Given the description of an element on the screen output the (x, y) to click on. 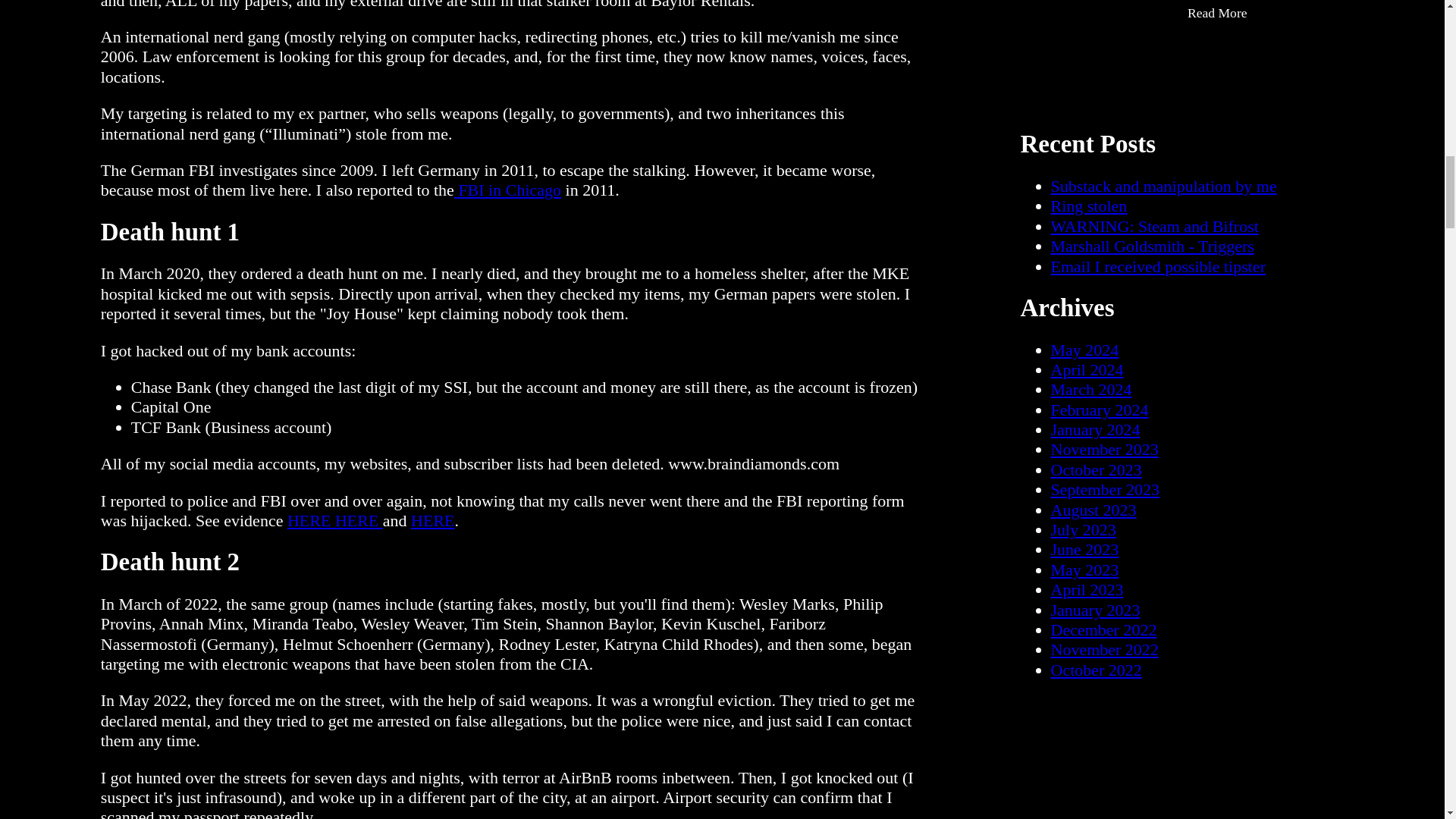
HERE (358, 520)
FBI in Chicago (507, 189)
Read More (1216, 14)
Email I received possible tipster (1158, 266)
Ring stolen (1088, 205)
HERE (432, 520)
Marshall Goldsmith - Triggers (1152, 245)
HERE (310, 520)
WARNING: Steam and Bifrost (1155, 226)
Substack and manipulation by me (1163, 185)
